Given the description of an element on the screen output the (x, y) to click on. 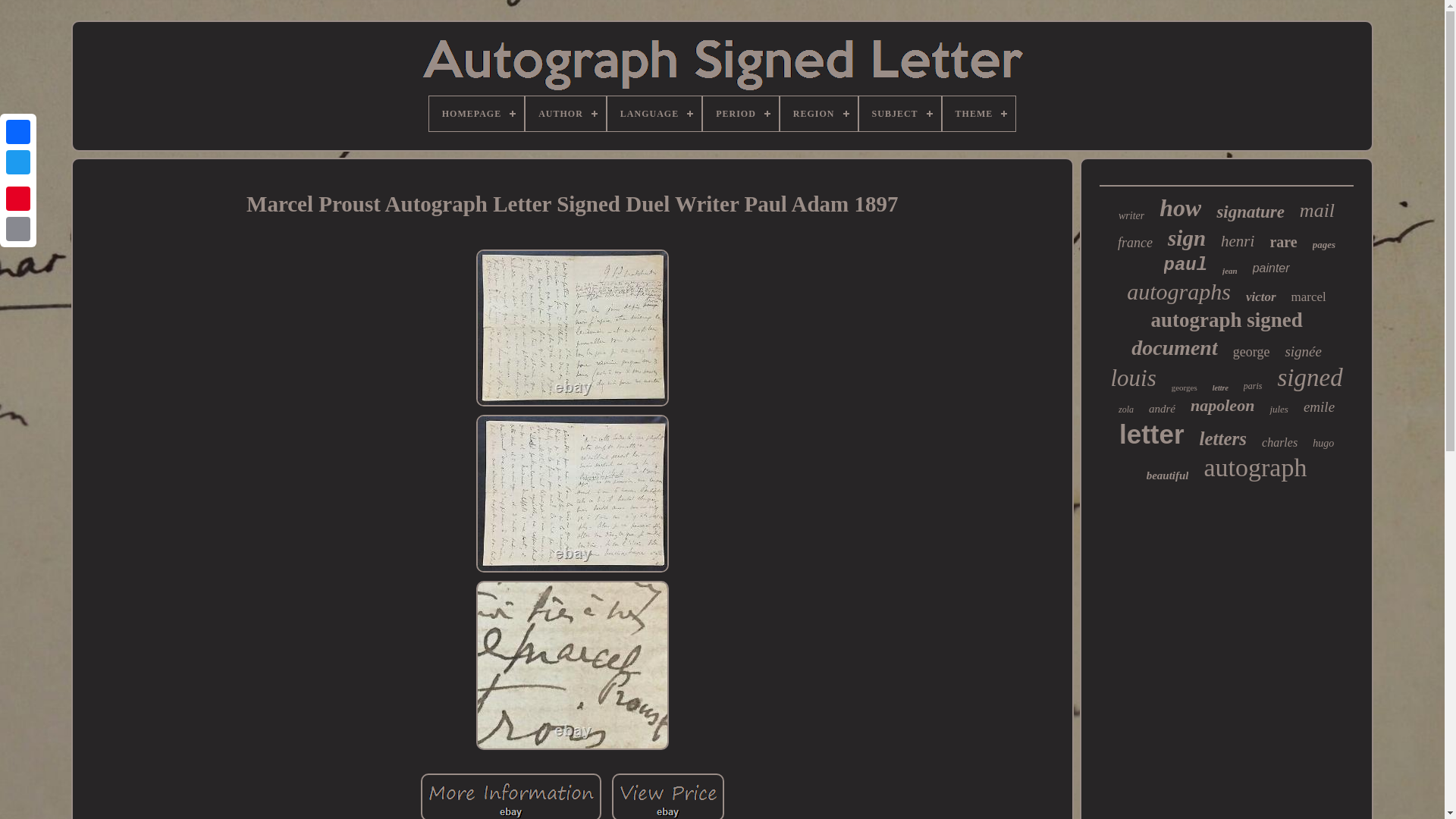
HOMEPAGE (476, 113)
AUTHOR (565, 113)
Email (17, 228)
PERIOD (740, 113)
LANGUAGE (654, 113)
